Given the description of an element on the screen output the (x, y) to click on. 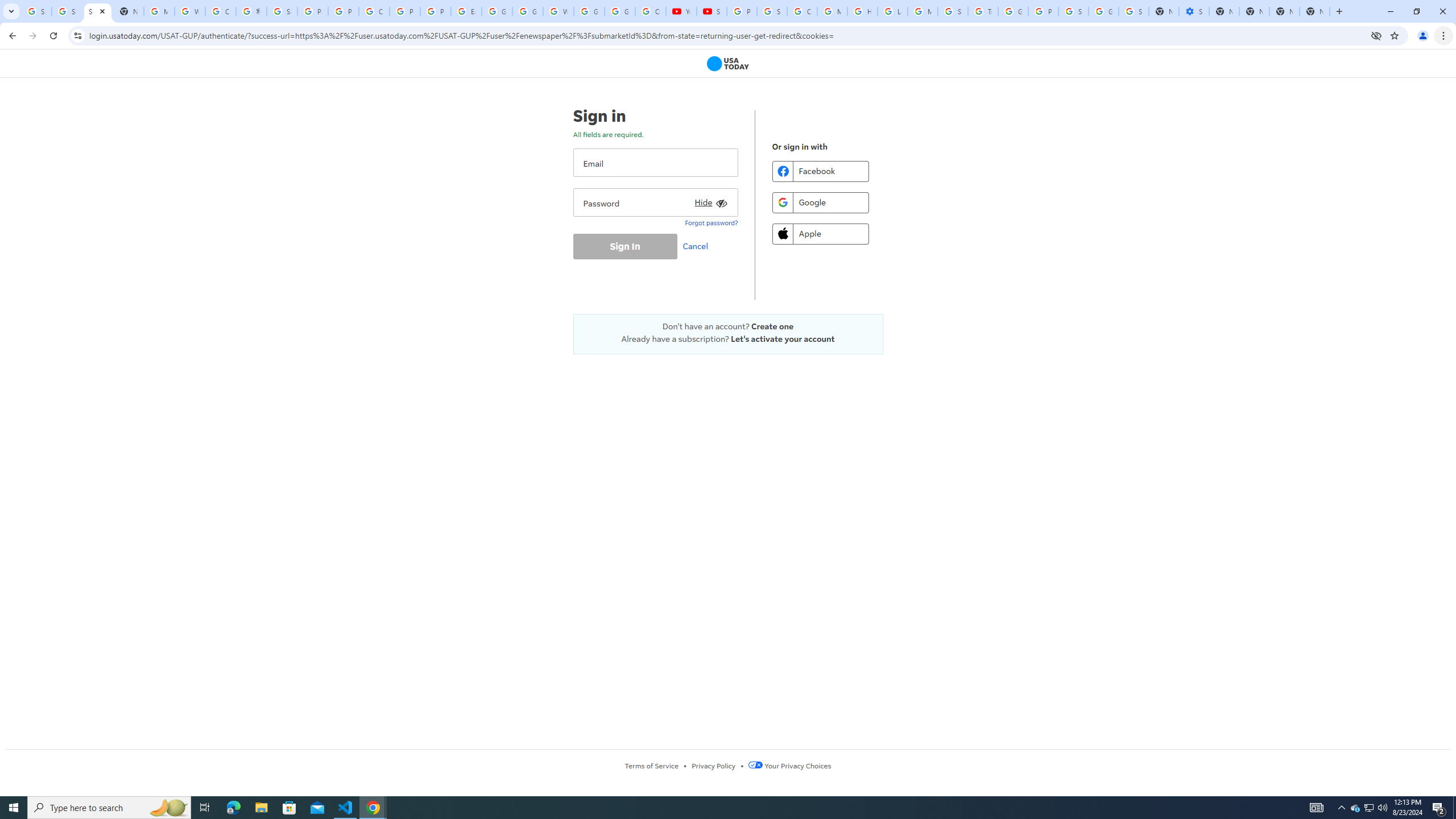
Already have a subscription? Let's activate your account (727, 338)
Google Slides: Sign-in (496, 11)
Enter Password (655, 202)
New Tab (1314, 11)
Google Account (619, 11)
